Given the description of an element on the screen output the (x, y) to click on. 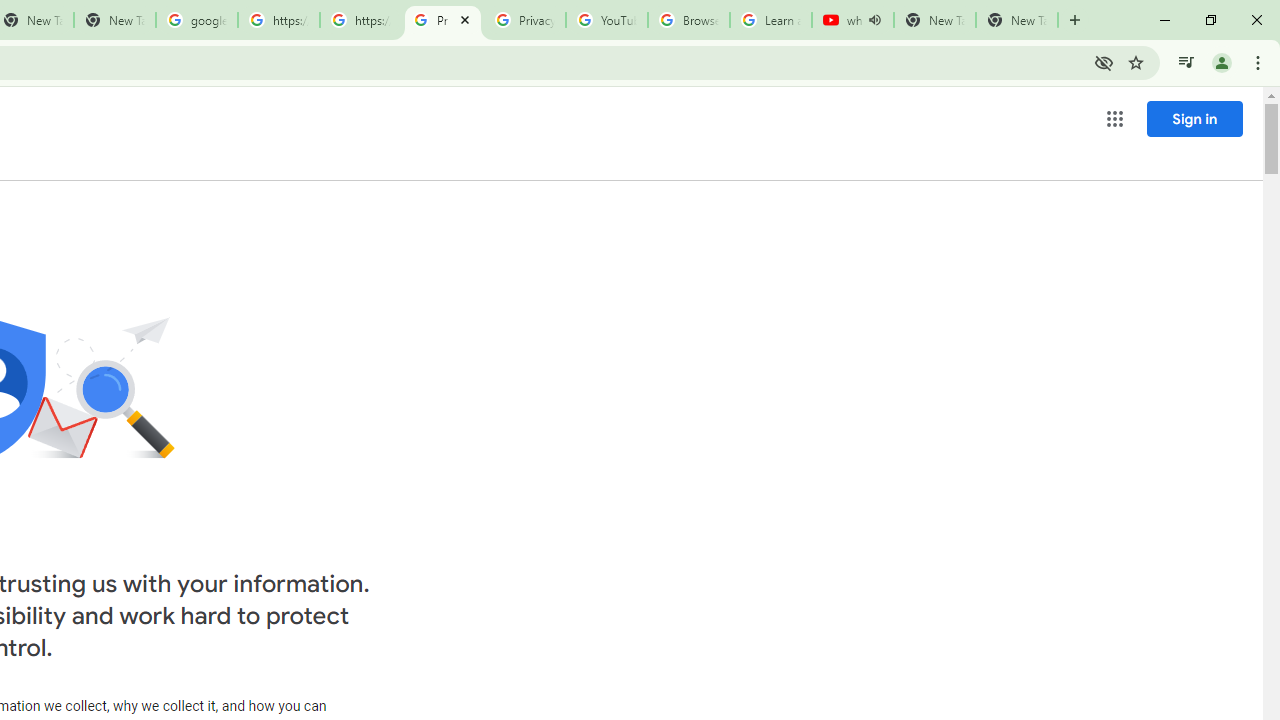
https://scholar.google.com/ (360, 20)
YouTube (606, 20)
